Given the description of an element on the screen output the (x, y) to click on. 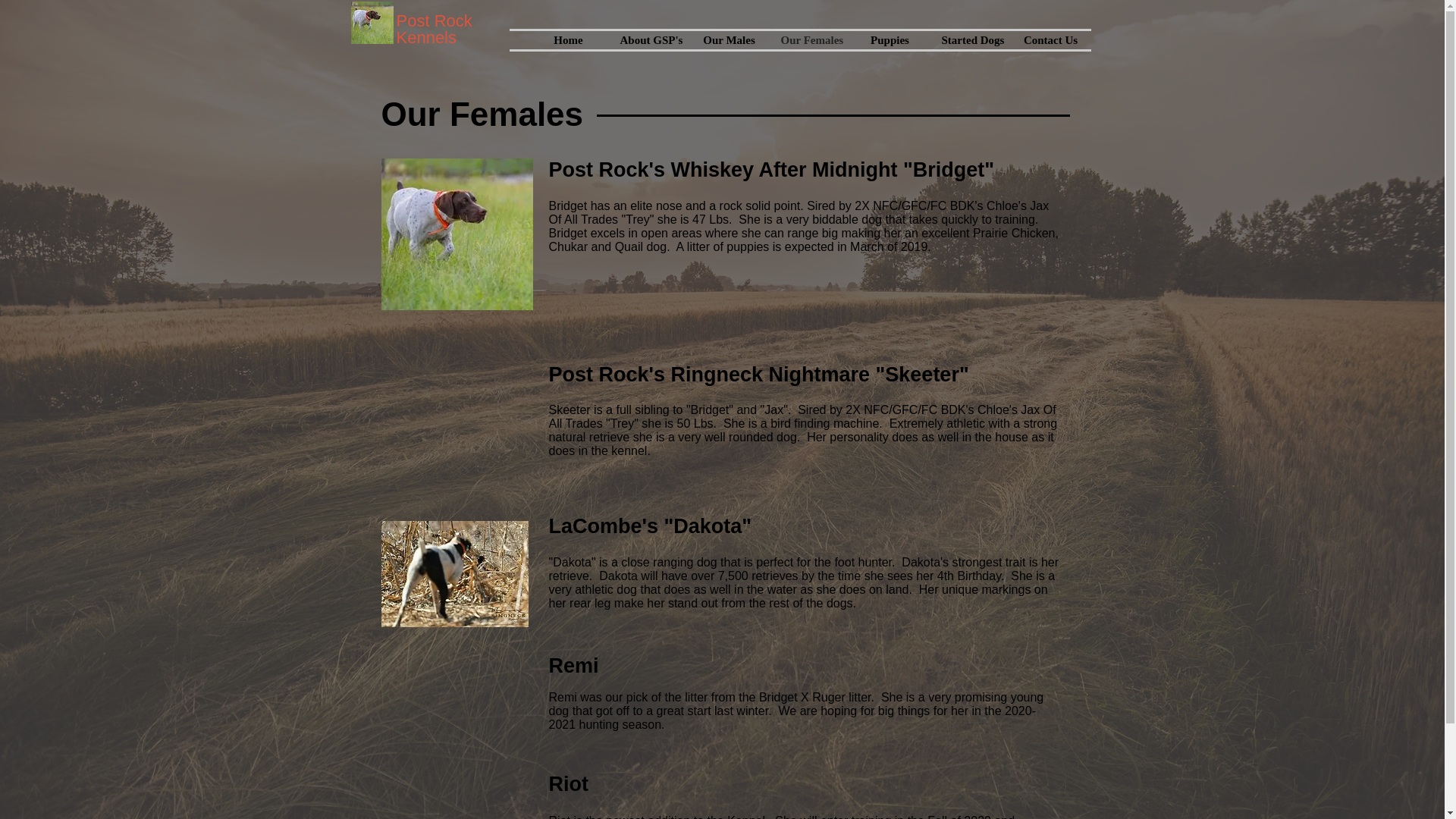
Puppies (889, 40)
Our Males (728, 40)
Home (567, 40)
Started Dogs (970, 40)
Contact Us (1050, 40)
Our Females (808, 40)
About GSP's (648, 40)
